Given the description of an element on the screen output the (x, y) to click on. 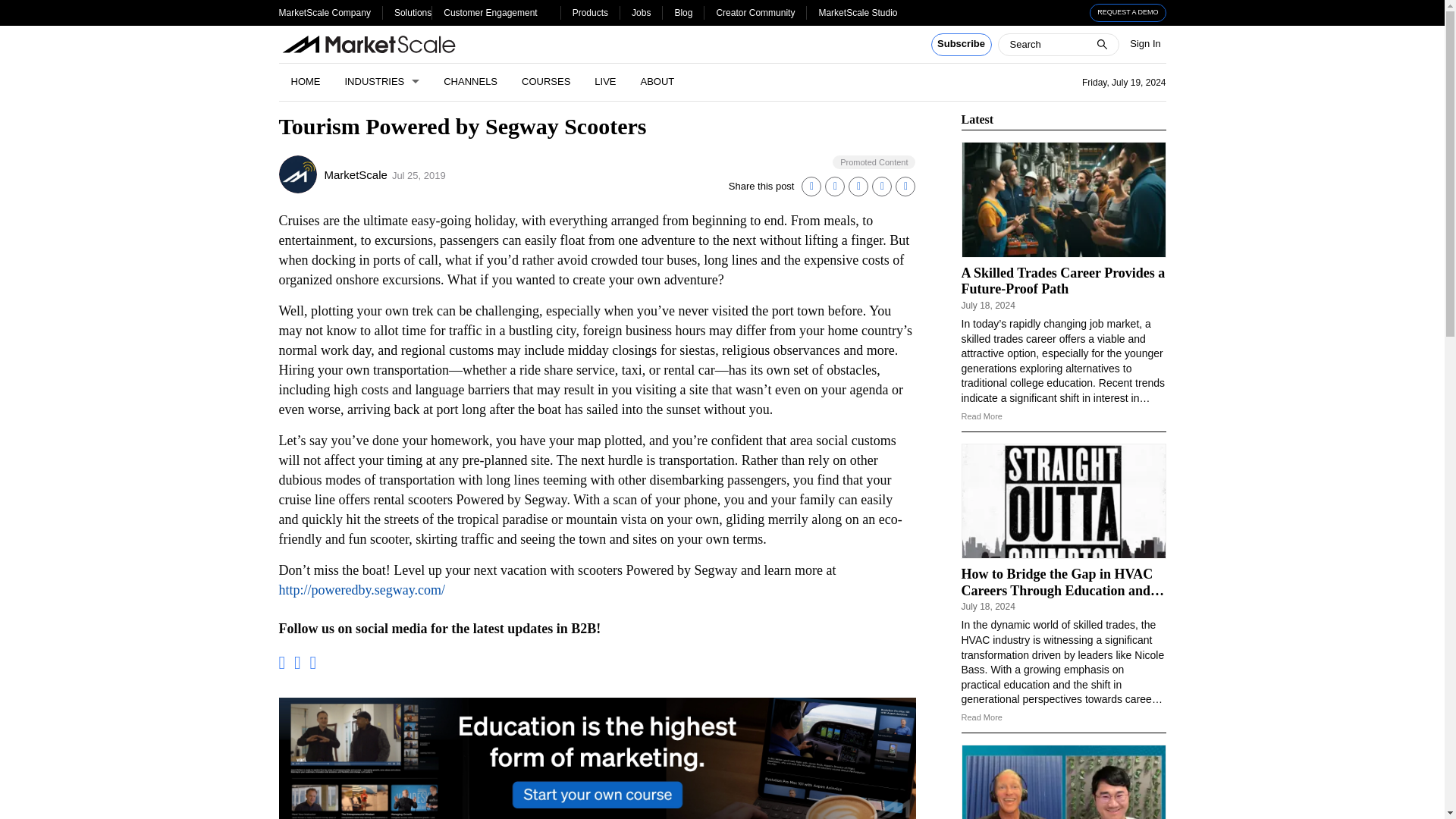
Creator Community (755, 12)
MarketScale Company (325, 12)
Share on Email (881, 186)
Customer Engagement (490, 12)
REQUEST A DEMO (1127, 13)
Share on X (834, 186)
Products (590, 12)
Solutions (412, 12)
Copy Link (905, 186)
Jobs (640, 12)
Subscribe (961, 44)
Blog (683, 12)
MarketScale (355, 173)
Search (21, 7)
Share on Facebook (857, 186)
